Given the description of an element on the screen output the (x, y) to click on. 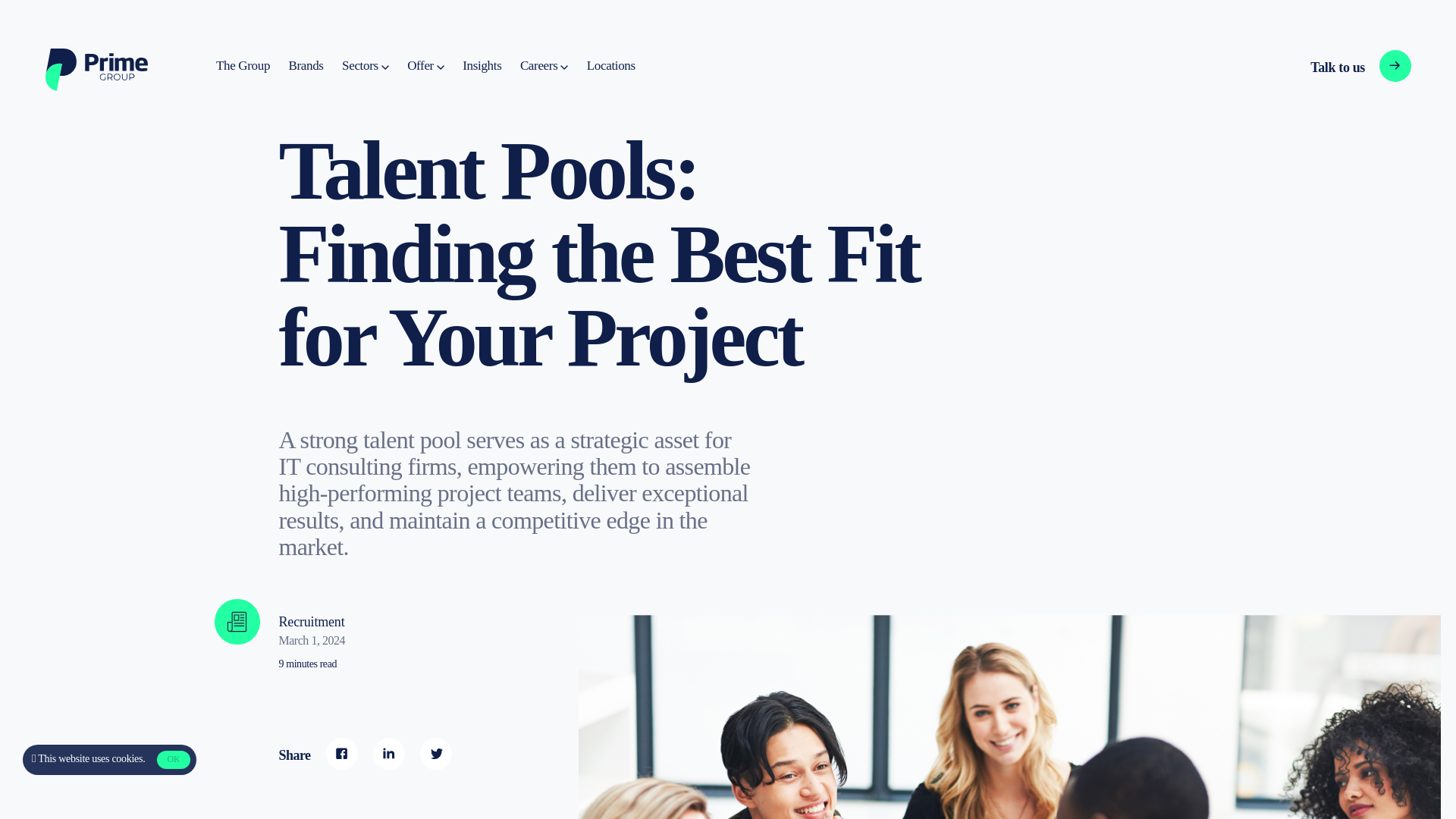
The Group (1334, 67)
Sectors (242, 66)
uses cookies. (365, 66)
Offer (117, 758)
OK (425, 66)
Careers (173, 760)
Brands (543, 66)
Locations (305, 66)
Insights (610, 66)
